Given the description of an element on the screen output the (x, y) to click on. 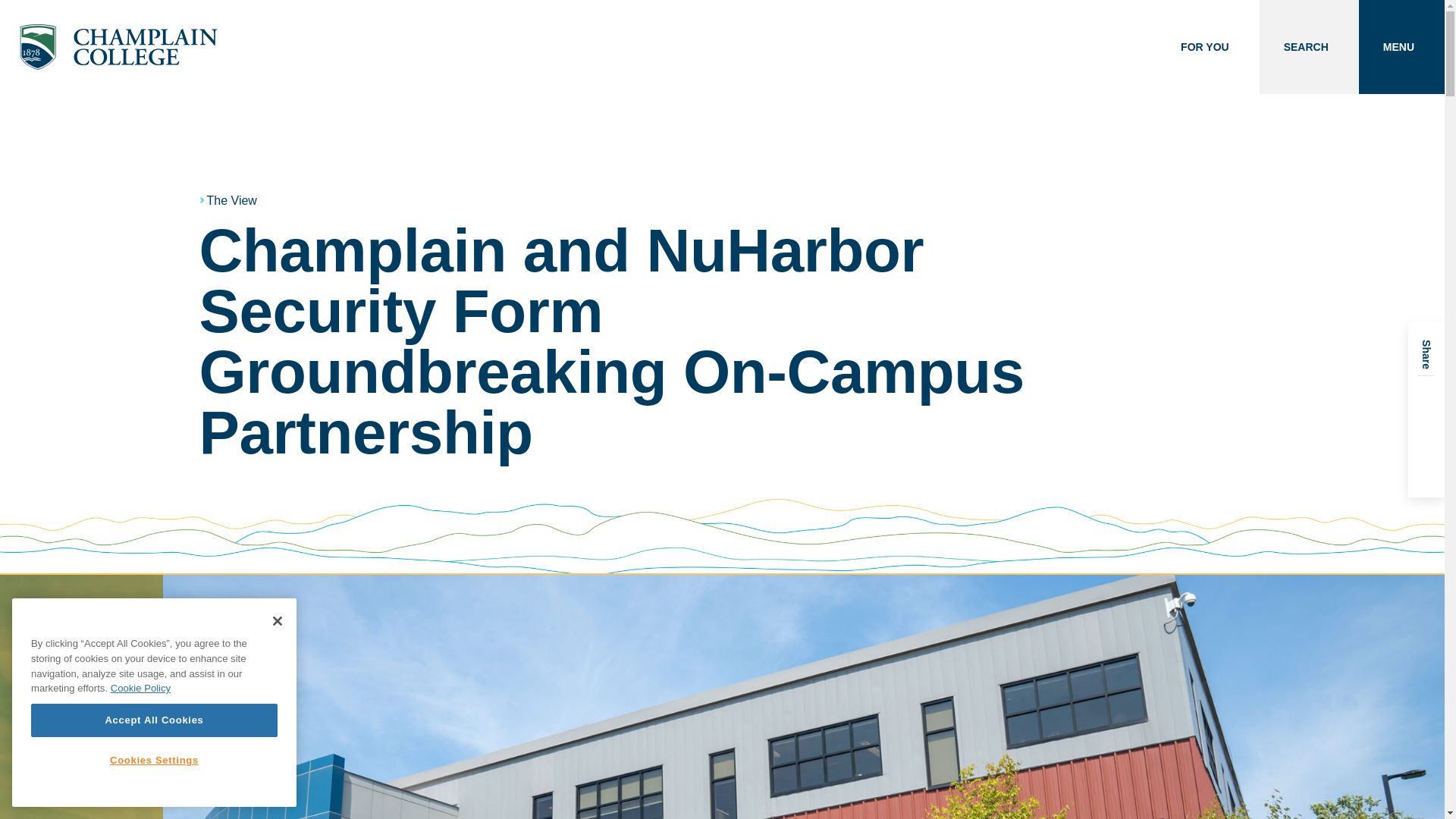
SEARCH (1308, 47)
FOR YOU (1207, 47)
Champlain College (118, 46)
Champlain College (118, 47)
